Given the description of an element on the screen output the (x, y) to click on. 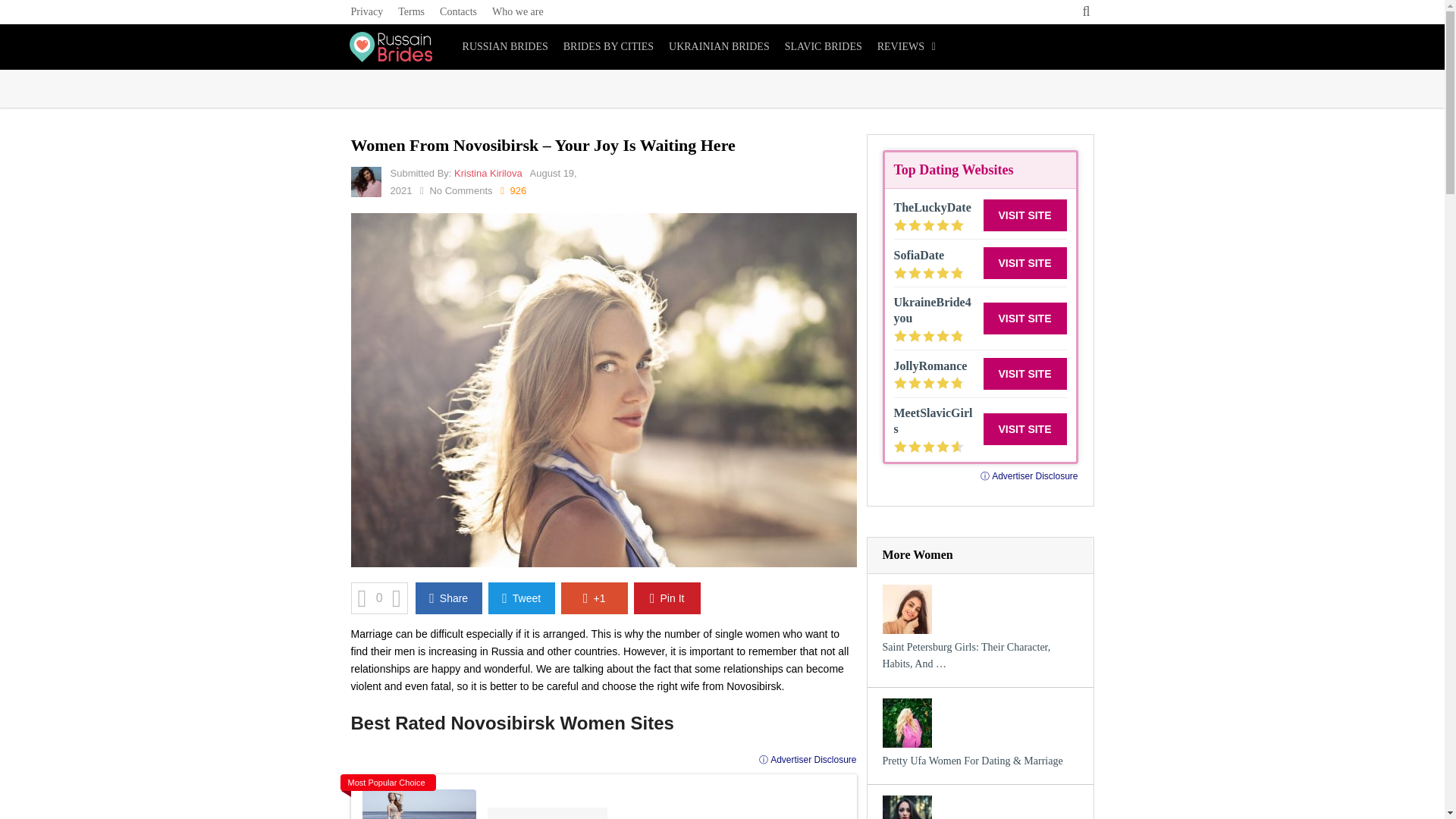
Kristina Kirilova (488, 173)
Who we are (517, 12)
Share (447, 598)
BRIDES BY CITIES (608, 46)
RUSSIAN BRIDES (505, 46)
Our Score (927, 224)
Privacy (370, 12)
Views (512, 190)
REVIEWS (906, 46)
SLAVIC BRIDES (823, 46)
